Given the description of an element on the screen output the (x, y) to click on. 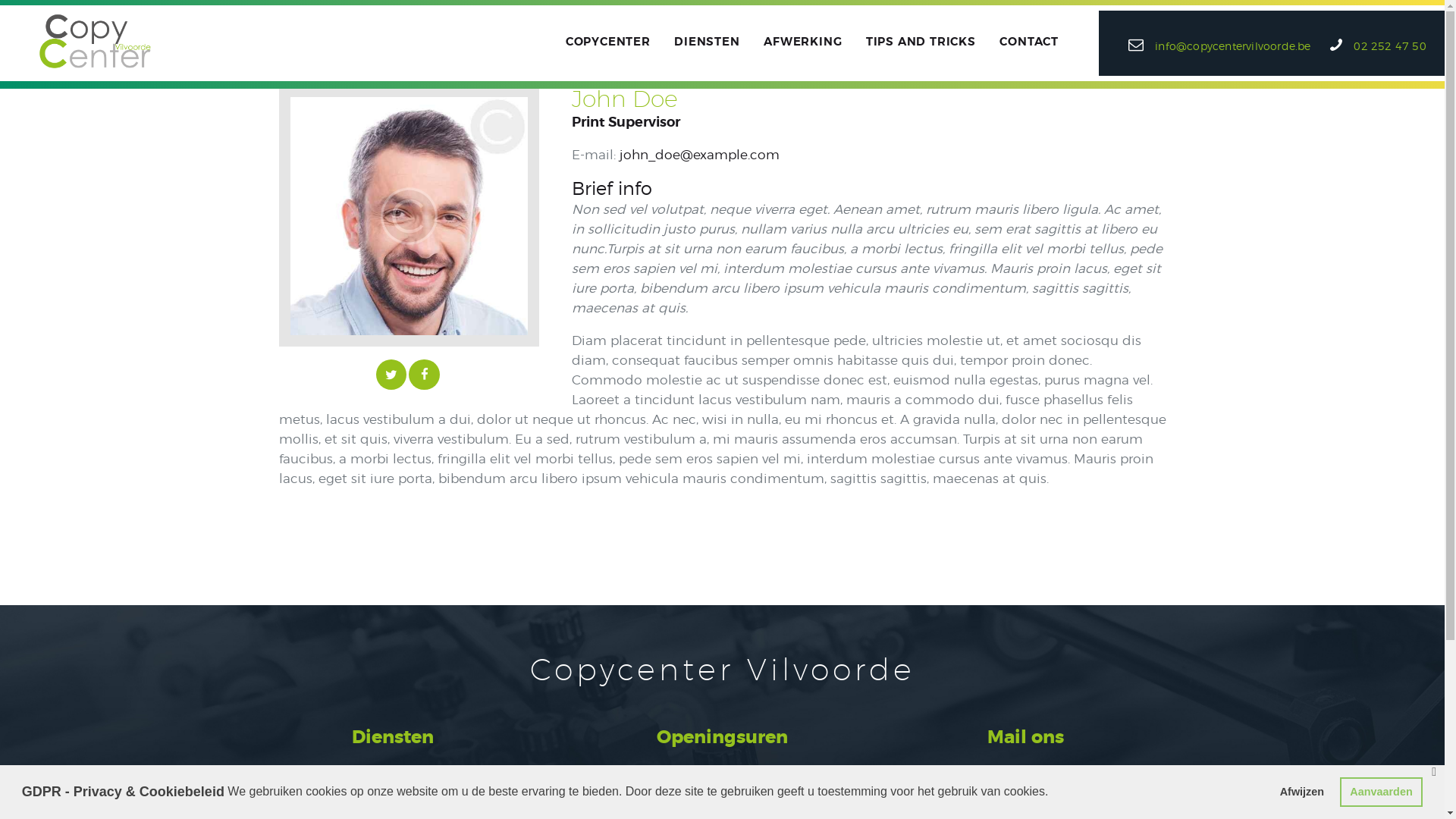
Stickers Element type: text (307, 806)
Printen Element type: text (305, 785)
COPYCENTER Element type: text (607, 41)
Afwijzen Element type: text (1301, 791)
john_doe@example.com Element type: text (699, 154)
DIENSTEN Element type: text (706, 41)
TIPS AND TRICKS Element type: text (920, 41)
CONTACT Element type: text (1029, 41)
Plotten Element type: text (443, 785)
info@copycentervilvoorde.be Element type: text (1219, 43)
Aanvaarden Element type: text (1380, 791)
Etalages Element type: text (447, 806)
info@copycentervilvoorde.be Element type: text (1025, 785)
AFWERKING Element type: text (802, 41)
